Given the description of an element on the screen output the (x, y) to click on. 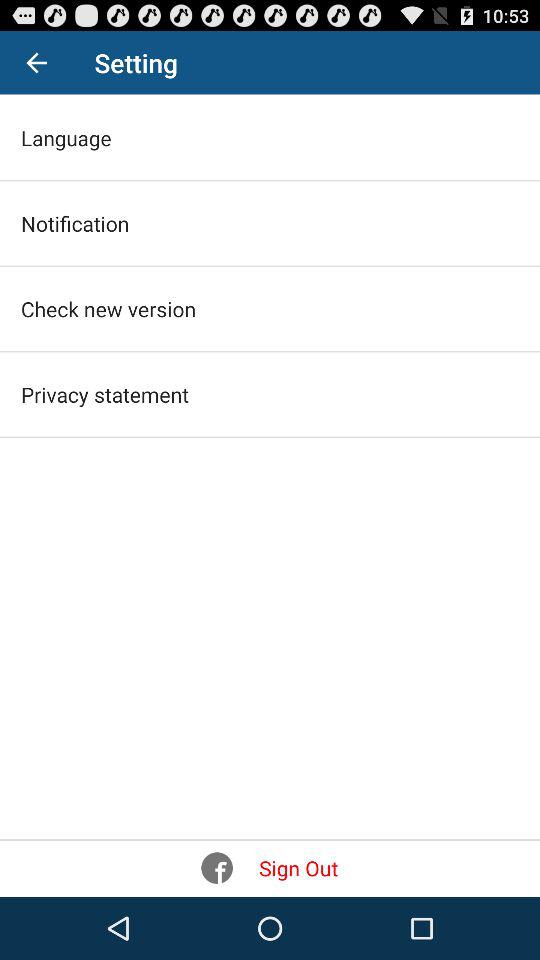
launch privacy statement on the left (104, 394)
